Given the description of an element on the screen output the (x, y) to click on. 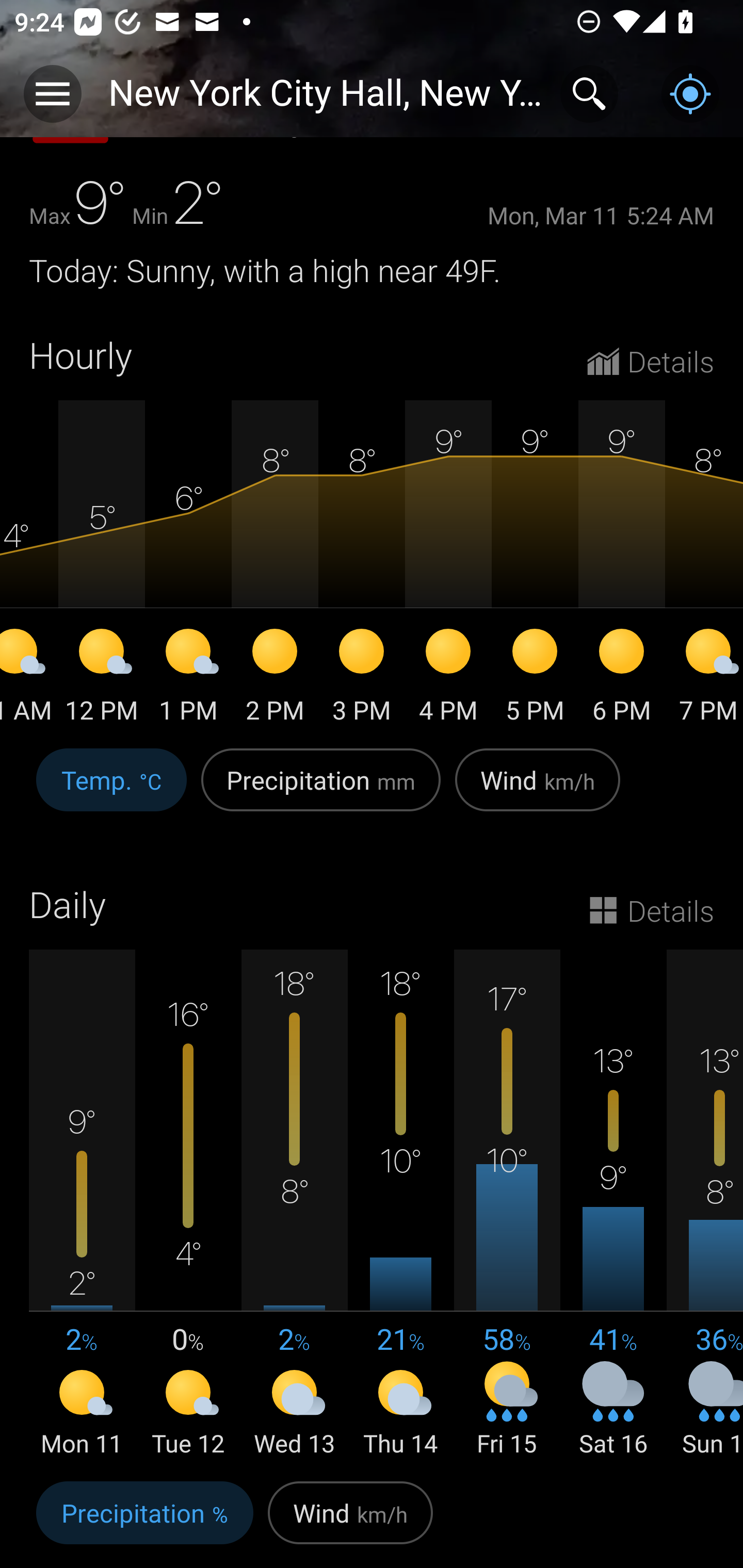
11 AM (28, 678)
12 PM (100, 678)
1 PM (187, 678)
2 PM (274, 678)
3 PM (361, 678)
4 PM (447, 678)
5 PM (534, 678)
6 PM (621, 678)
7 PM (703, 678)
Temp. °C (110, 790)
Precipitation mm (320, 790)
Wind km/h (537, 790)
9° 2° 2 % Mon 11 (81, 1204)
16° 4° 0 % Tue 12 (188, 1204)
18° 8° 2 % Wed 13 (294, 1204)
18° 10° 21 % Thu 14 (400, 1204)
17° 10° 58 % Fri 15 (506, 1204)
13° 9° 41 % Sat 16 (613, 1204)
13° 8° 36 % Sun 17 (704, 1204)
Precipitation % (144, 1520)
Wind km/h (349, 1520)
